Given the description of an element on the screen output the (x, y) to click on. 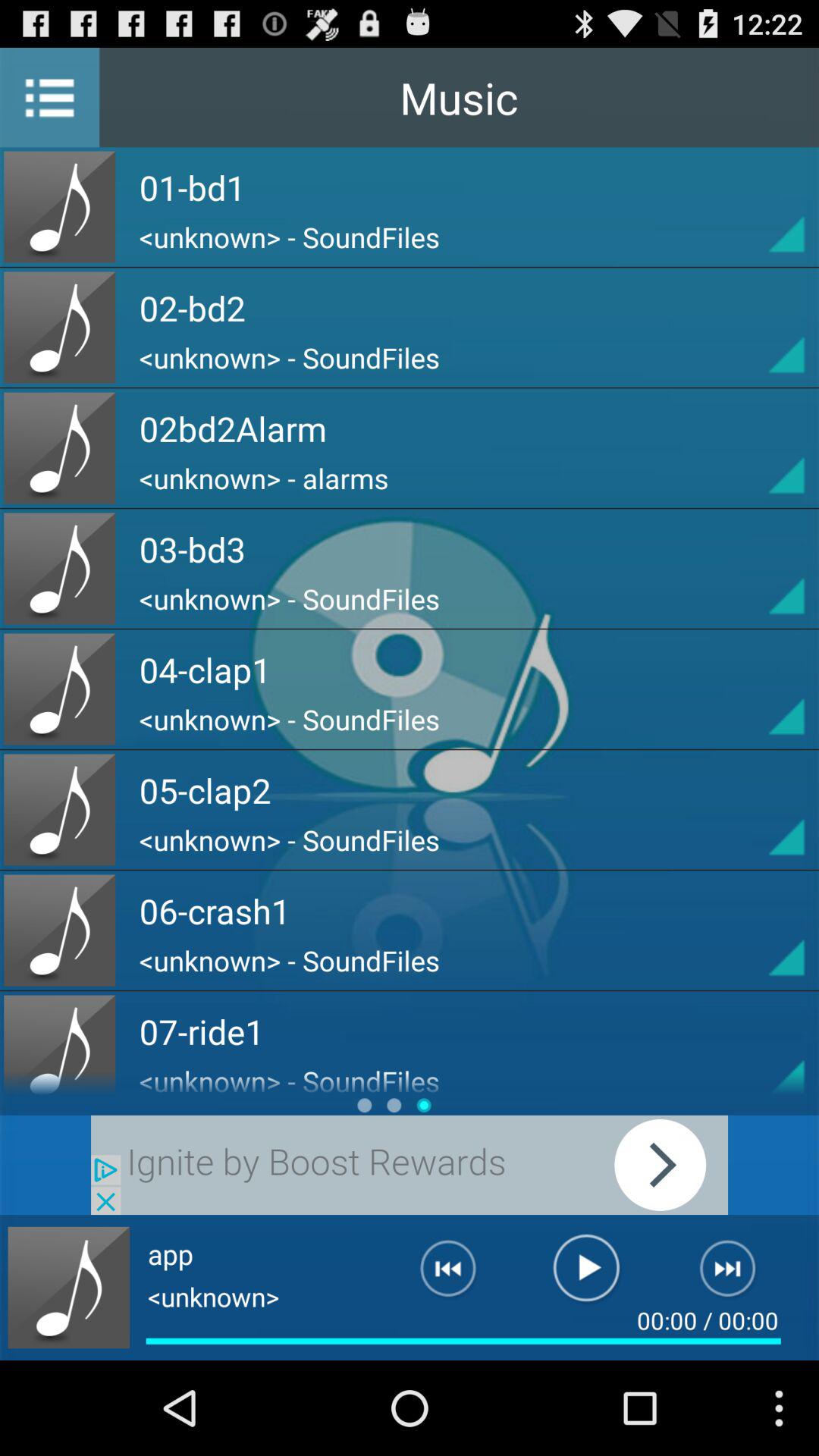
view next audio (737, 1274)
